Given the description of an element on the screen output the (x, y) to click on. 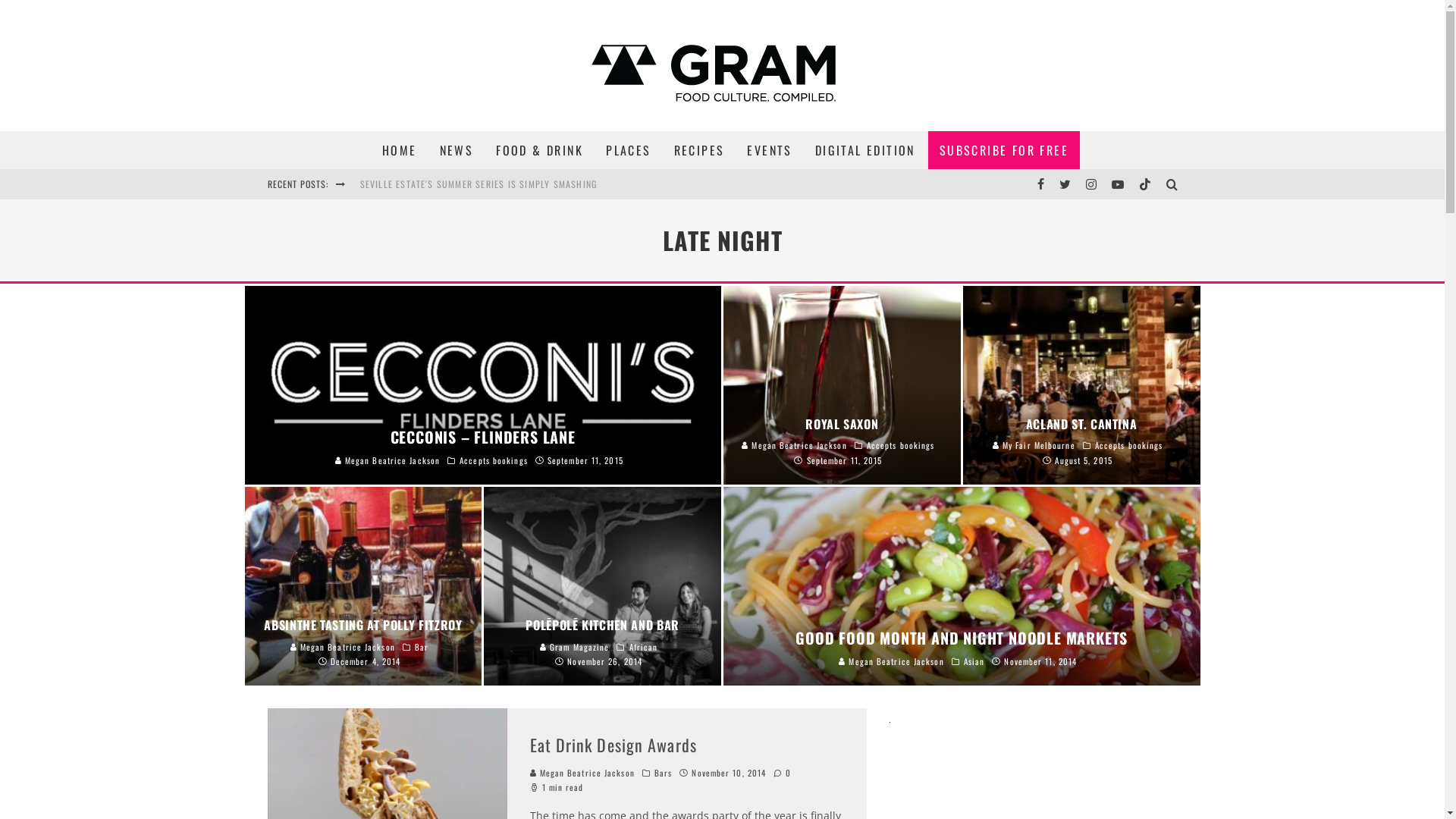
0 Element type: text (781, 772)
Accepts bookings Element type: text (900, 444)
Asian Element type: text (974, 660)
DIGITAL EDITION Element type: text (864, 150)
Megan Beatrice Jackson Element type: text (890, 661)
My Fair Melbourne Element type: text (1033, 445)
EVENTS Element type: text (769, 150)
Bars Element type: text (662, 772)
NEWS Element type: text (456, 150)
WHY EAST GIPPSLAND SHOULD BE ON YOUR SUMMER ITINERARY Element type: text (493, 183)
ACLAND ST. CANTINA Element type: text (1081, 423)
Megan Beatrice Jackson Element type: text (341, 646)
Megan Beatrice Jackson Element type: text (793, 445)
RECIPES Element type: text (699, 150)
HOME Element type: text (399, 150)
Gram Magazine Element type: text (573, 646)
Accepts bookings Element type: text (493, 460)
Megan Beatrice Jackson Element type: text (581, 772)
GOOD FOOD MONTH AND NIGHT NOODLE MARKETS Element type: text (961, 637)
SUBSCRIBE FOR FREE Element type: text (1003, 150)
Bar Element type: text (421, 646)
ROYAL SAXON Element type: text (841, 423)
PLACES Element type: text (628, 150)
Megan Beatrice Jackson Element type: text (387, 460)
Eat Drink Design Awards Element type: text (612, 744)
African Element type: text (643, 646)
ABSINTHE TASTING AT POLLY FITZROY Element type: text (362, 624)
Accepts bookings Element type: text (1129, 444)
FOOD & DRINK Element type: text (539, 150)
